Given the description of an element on the screen output the (x, y) to click on. 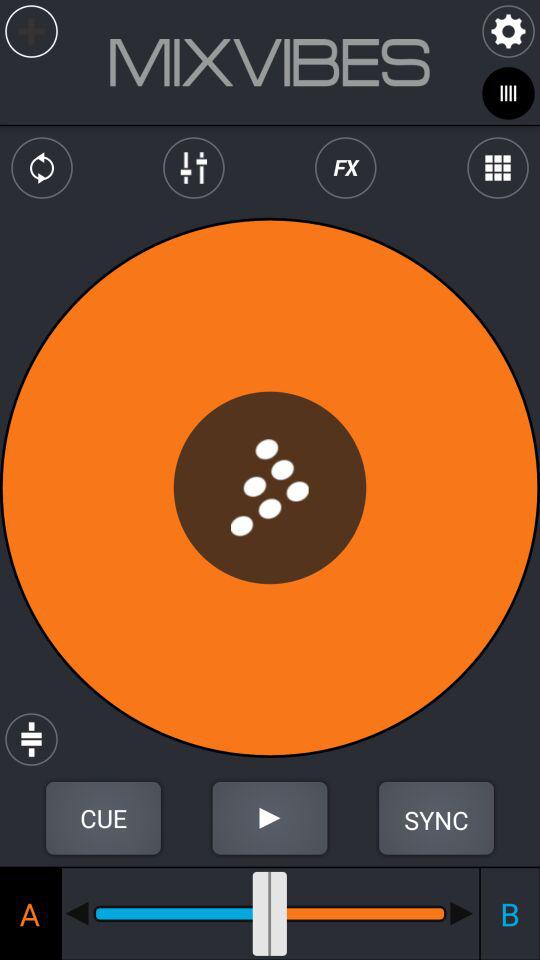
select repeat (41, 167)
